Given the description of an element on the screen output the (x, y) to click on. 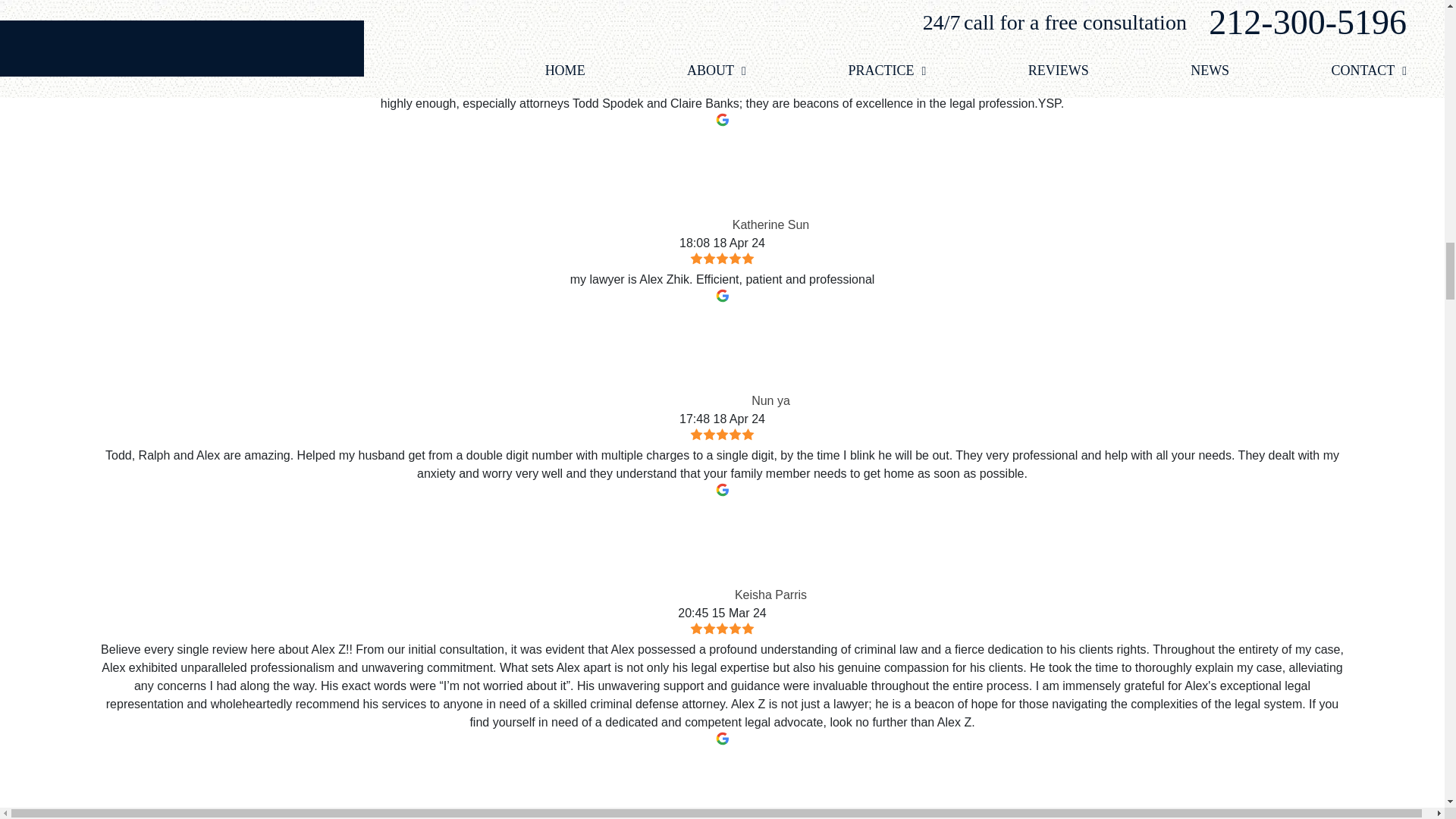
Nun ya (702, 355)
Katherine Sun (683, 180)
Keisha Parris (686, 550)
